Given the description of an element on the screen output the (x, y) to click on. 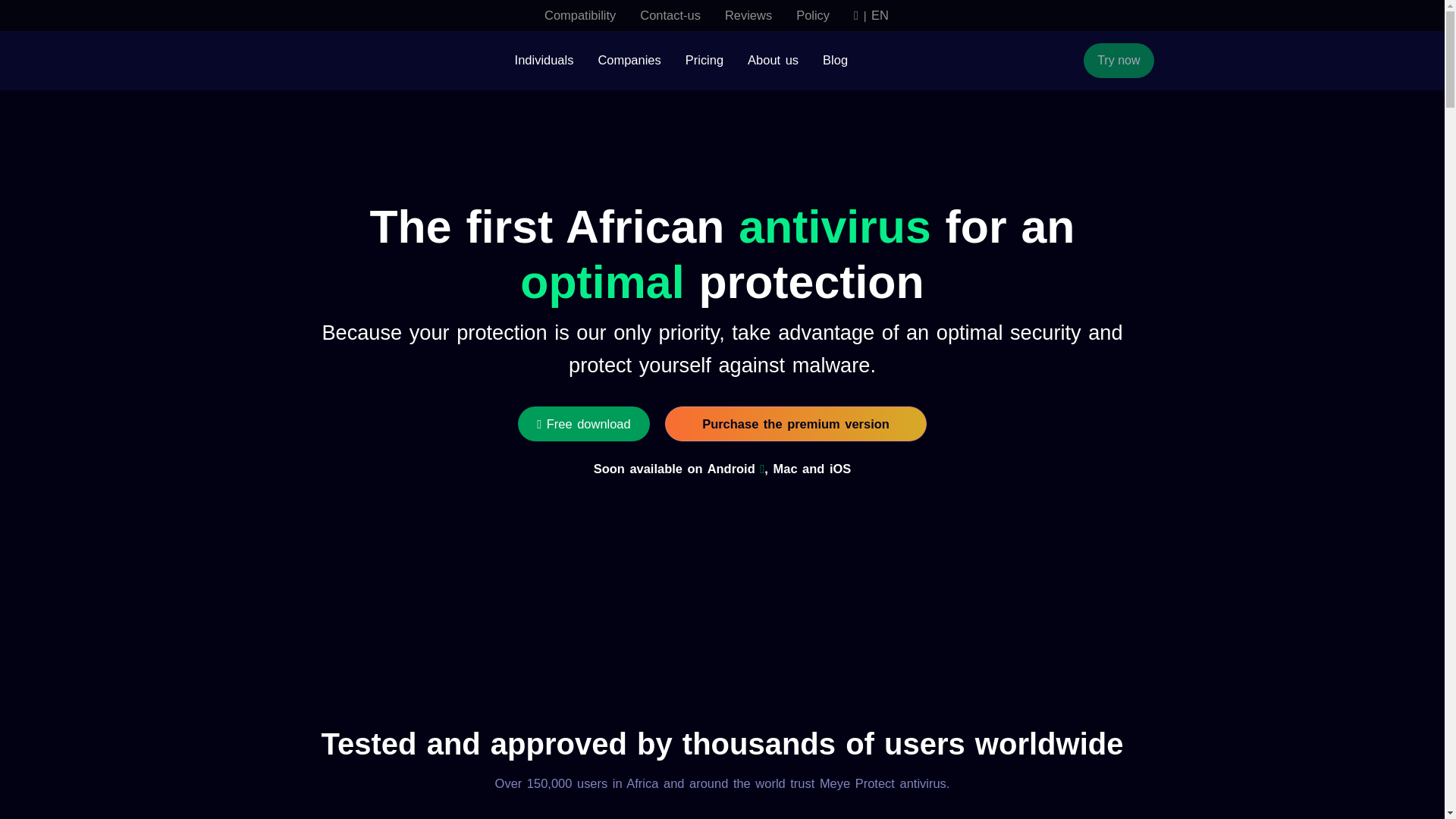
Compatibility (579, 15)
Reviews (748, 15)
Individuals (544, 60)
Pricing (703, 60)
Try now (1118, 60)
Policy (812, 15)
Contact-us (670, 15)
Companies (628, 60)
About us (772, 60)
Try now (1118, 60)
